Given the description of an element on the screen output the (x, y) to click on. 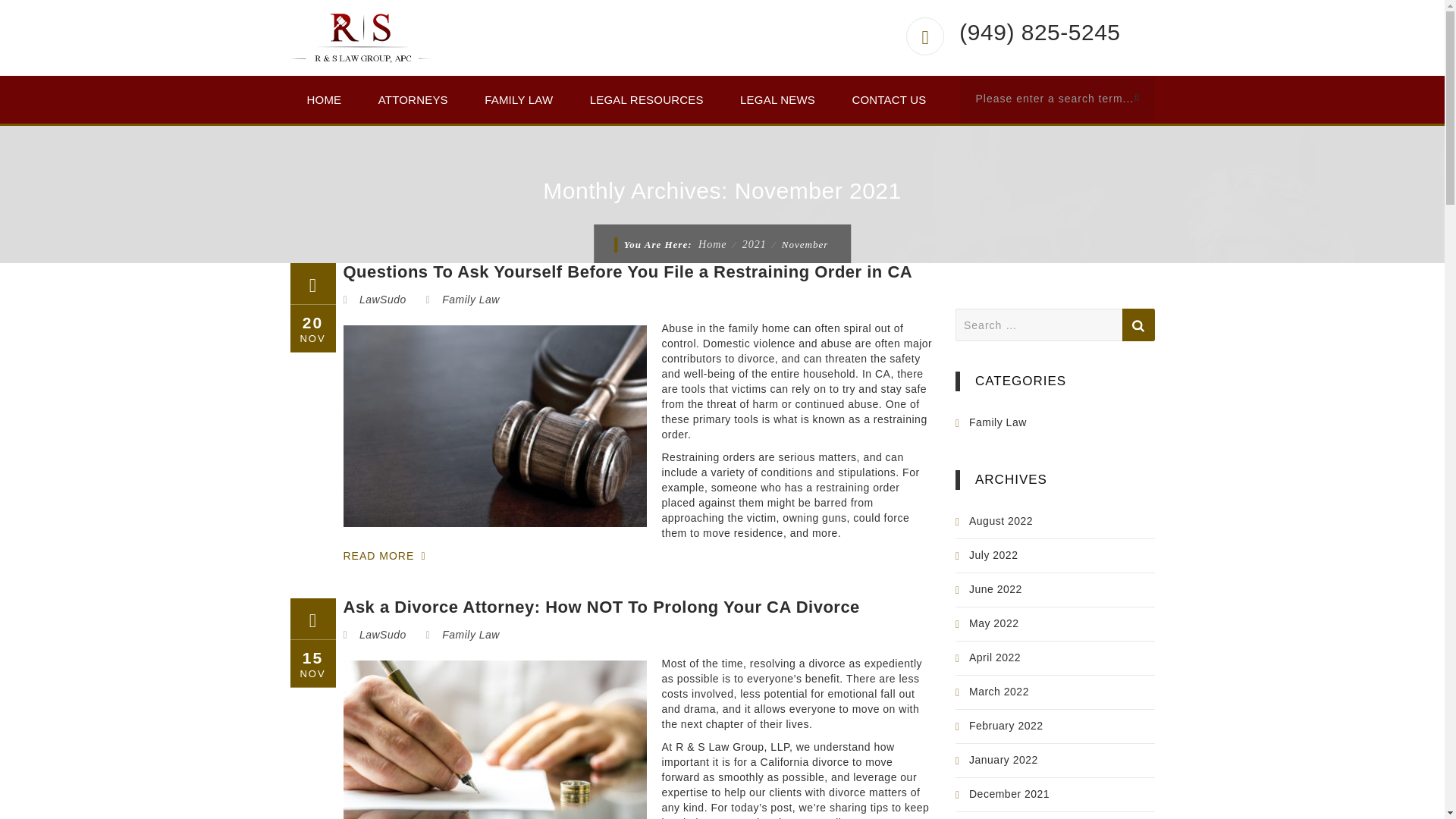
READ MORE (393, 556)
Search (1138, 324)
Ask a Divorce Attorney: How NOT To Prolong Your CA Divorce (600, 606)
LawSudo (382, 299)
Family Law (470, 634)
LEGAL RESOURCES (646, 99)
CONTACT US (888, 99)
View all posts by LawSudo (382, 634)
LawSudo (382, 634)
FAMILY LAW (518, 99)
Search (1138, 324)
Home (712, 244)
Family Law (470, 299)
